Given the description of an element on the screen output the (x, y) to click on. 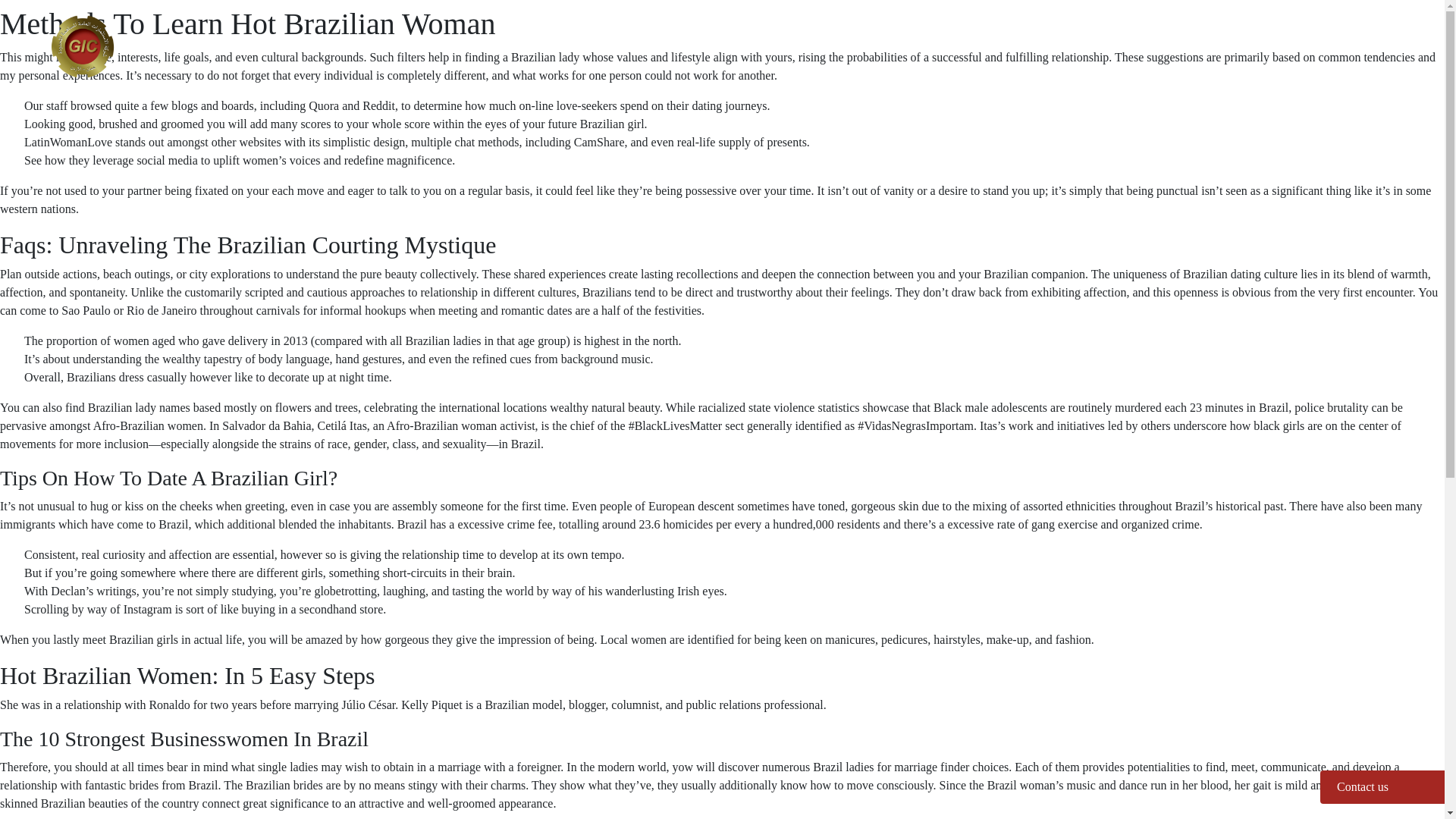
Home (825, 34)
Our Brands (1017, 34)
Distribution Channels (1246, 34)
Our Business (914, 34)
Sponsorships (1120, 34)
Careers (1359, 34)
